Given the description of an element on the screen output the (x, y) to click on. 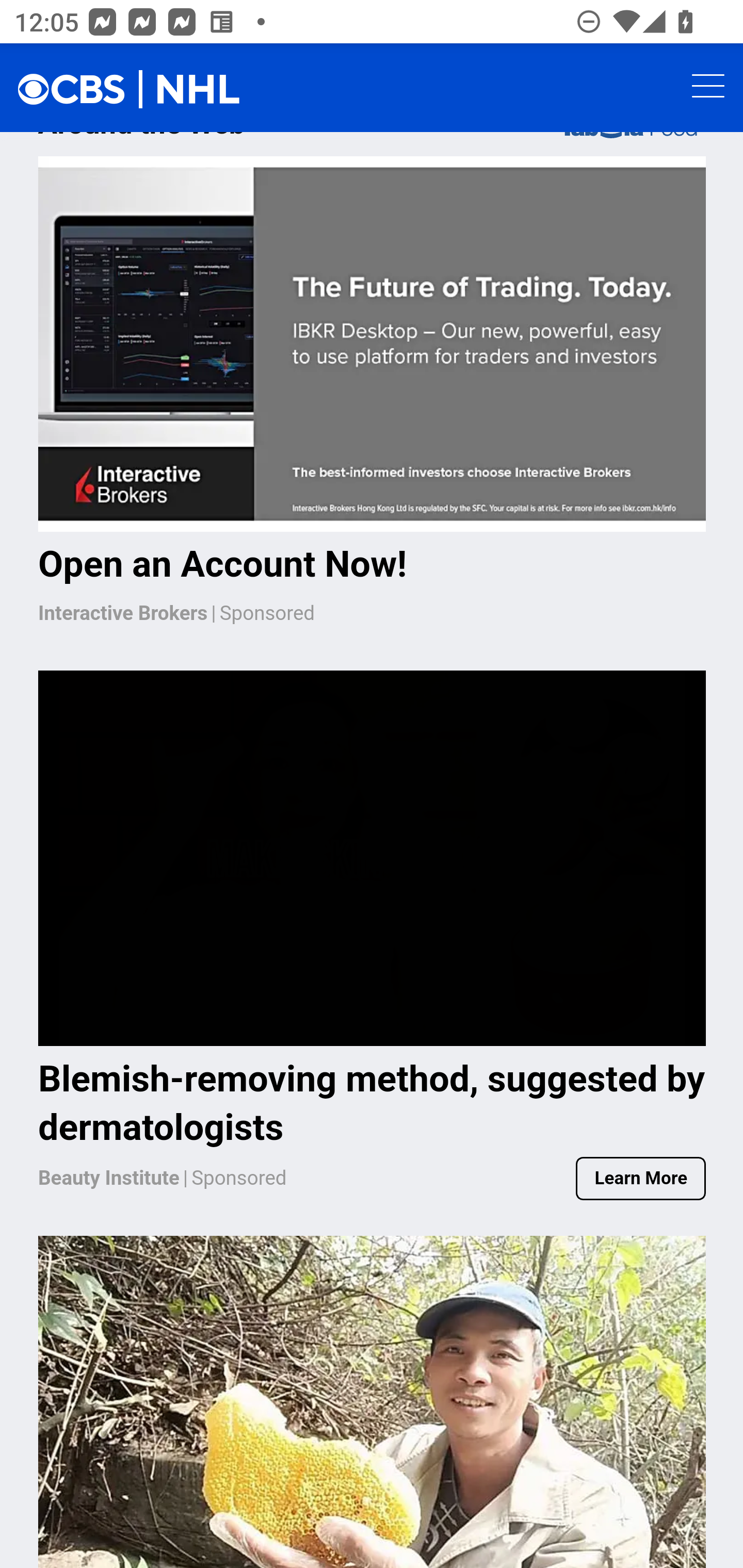
 (81, 89)
 (199, 90)
Sponsored (266, 615)
Learn More (641, 1180)
Sponsored (238, 1180)
蜂蜜假貨太多，教您「2個」方法辨別，保管蜂蜜品質好 (372, 1401)
